Given the description of an element on the screen output the (x, y) to click on. 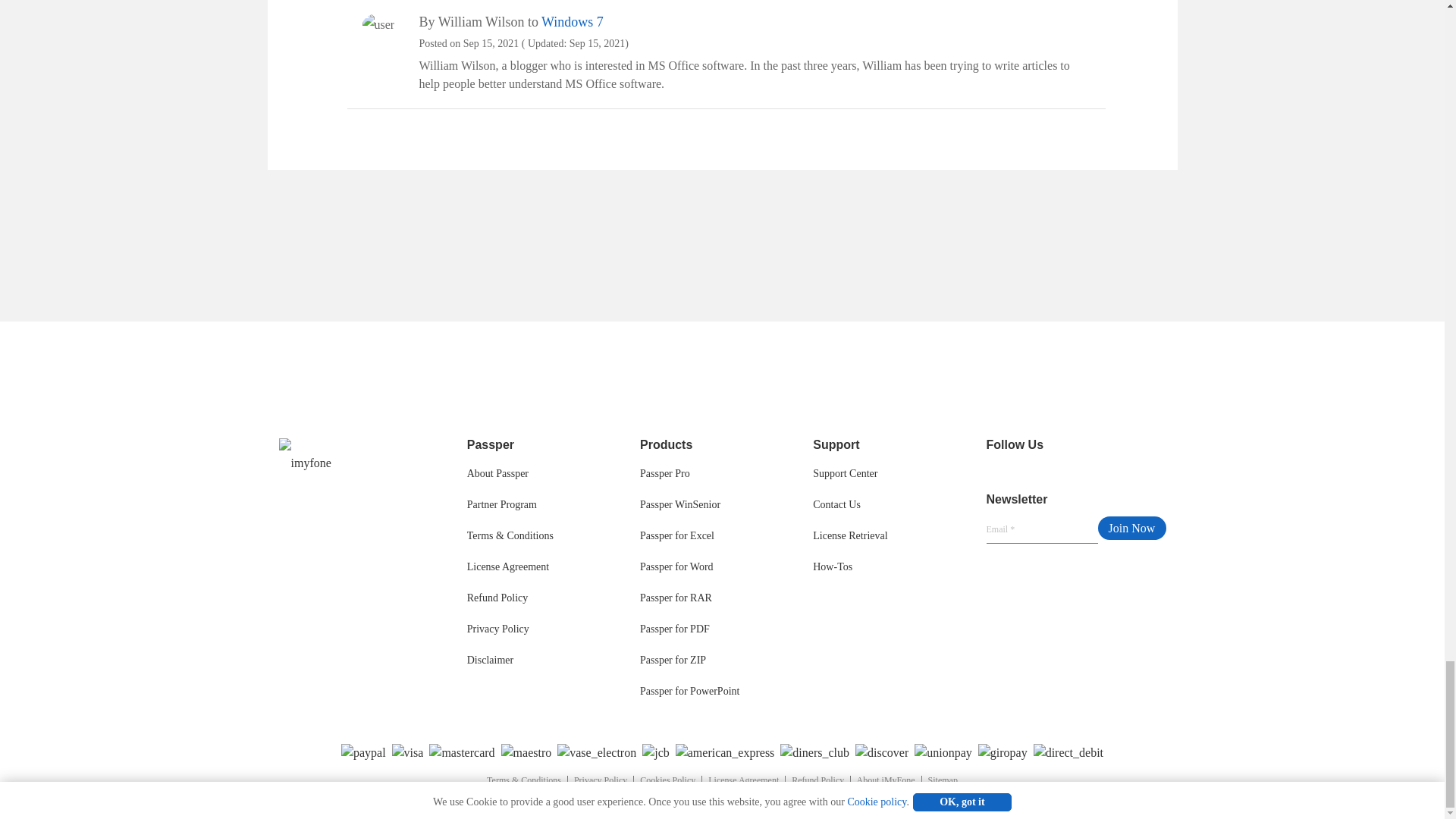
youtube (1134, 445)
Join Now (1131, 527)
twitter (1107, 445)
